Given the description of an element on the screen output the (x, y) to click on. 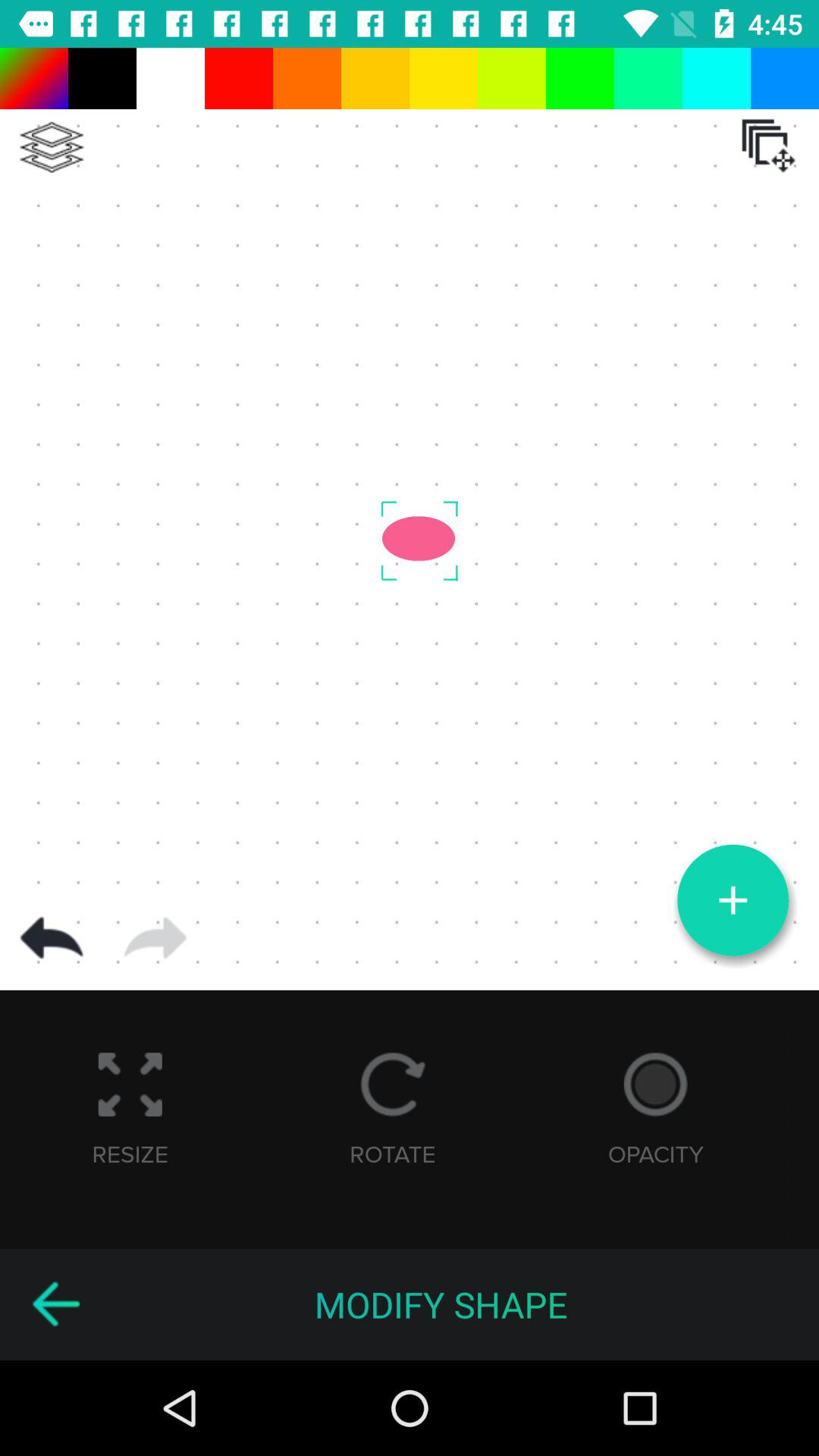
view setting menu (51, 147)
